Given the description of an element on the screen output the (x, y) to click on. 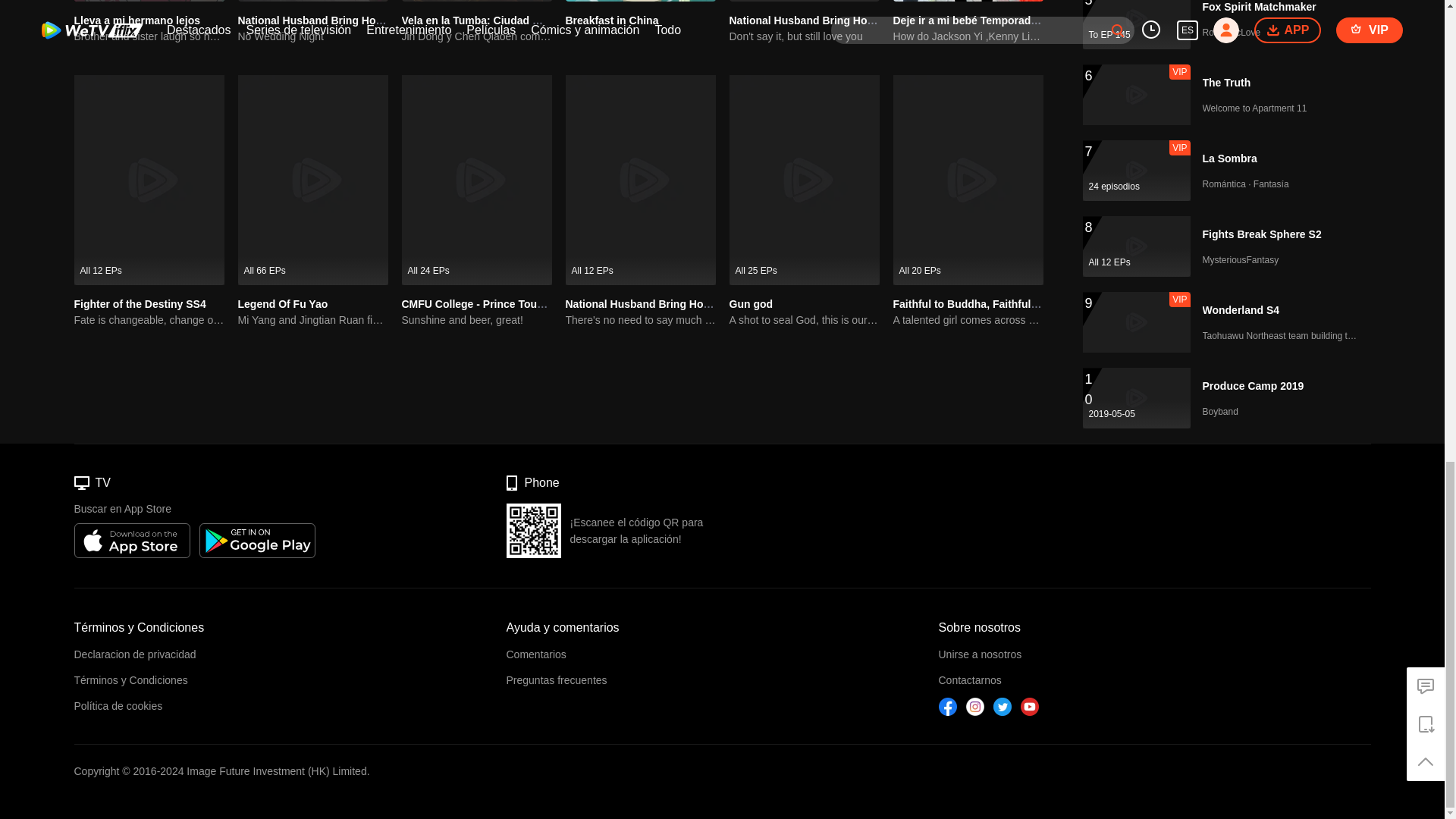
Jin Dong y Chen Qiaoen comienzaron una aventura (476, 36)
Lleva a mi hermano lejos (137, 20)
Fighter of the Destiny SS4 (140, 304)
Vela en la Tumba: Ciudad Misteriosa (493, 20)
Don't say it, but still love you (804, 36)
